Given the description of an element on the screen output the (x, y) to click on. 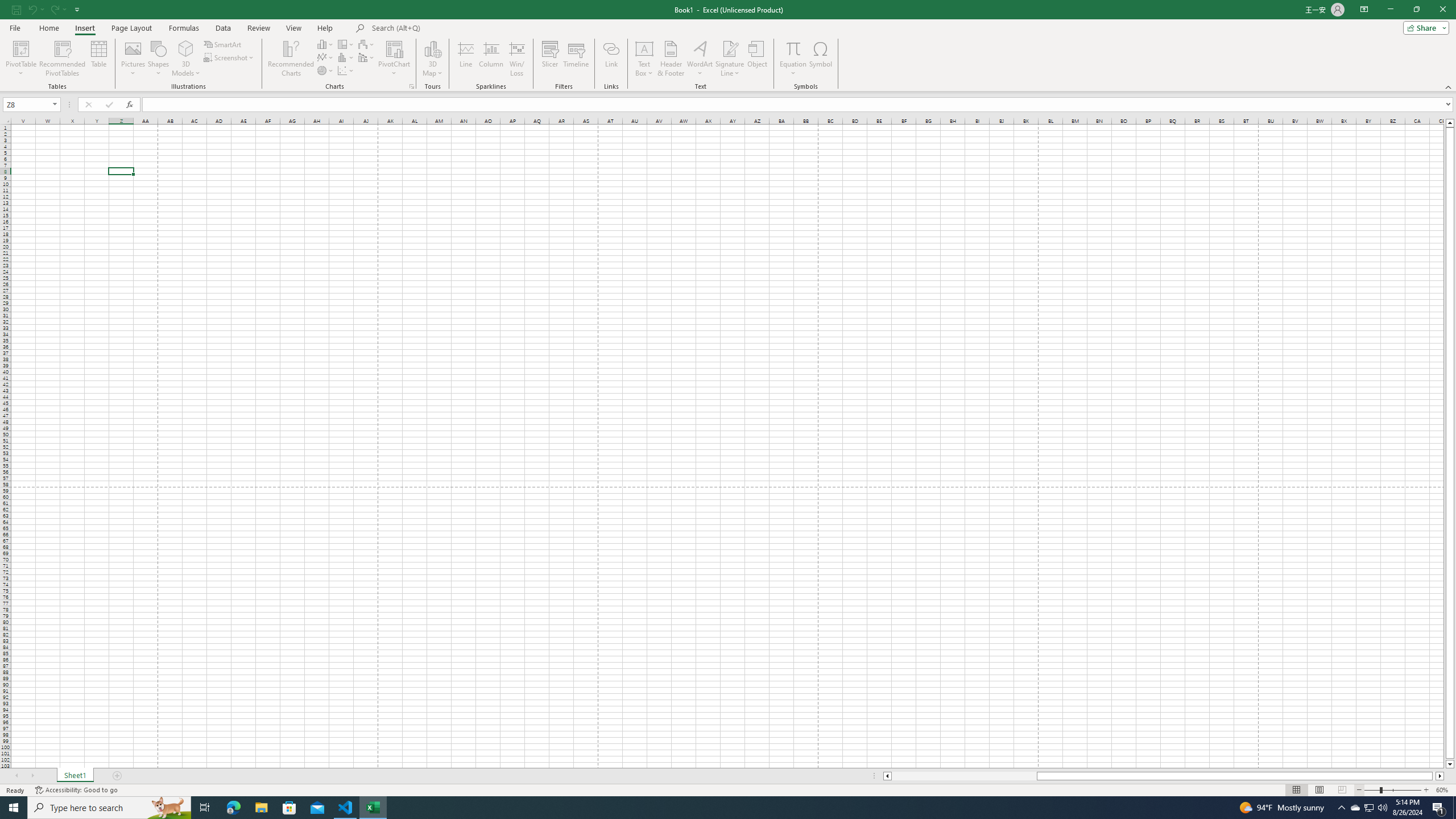
Insert Column or Bar Chart (325, 44)
PivotChart (394, 58)
Equation (793, 58)
Pictures (133, 58)
SmartArt... (223, 44)
Object... (757, 58)
